Given the description of an element on the screen output the (x, y) to click on. 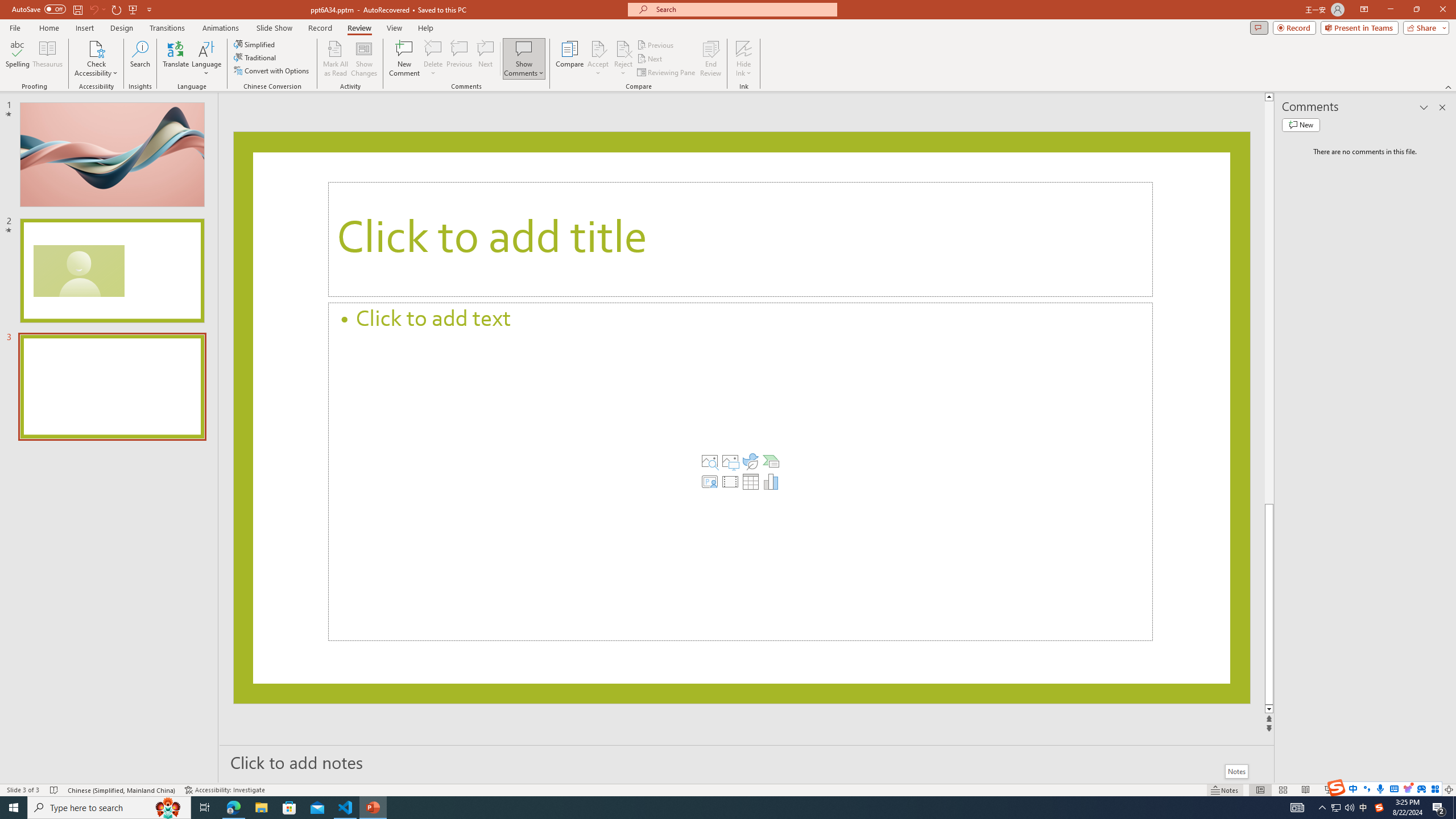
New Comment (403, 58)
Convert with Options... (272, 69)
